Given the description of an element on the screen output the (x, y) to click on. 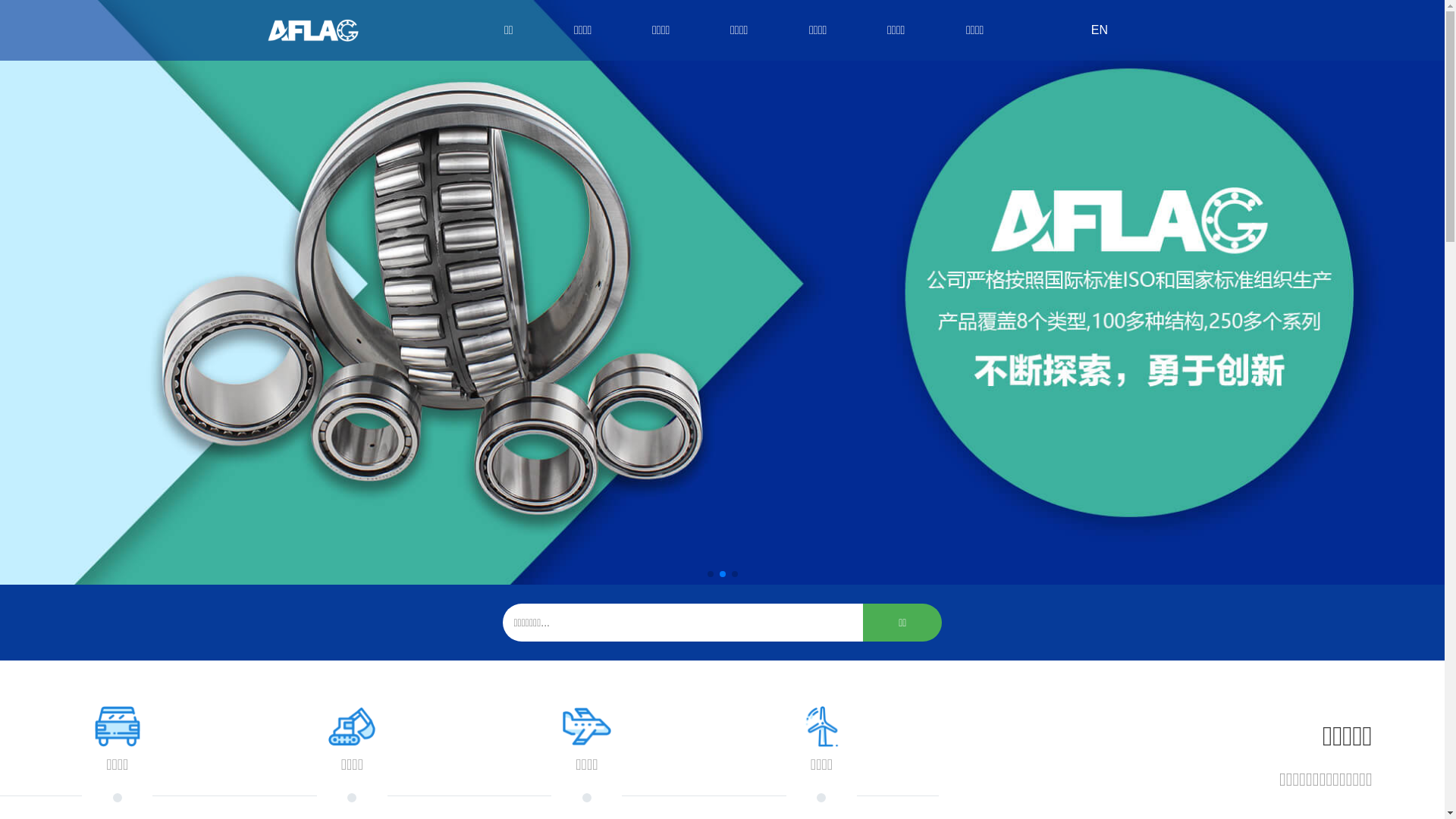
EN Element type: text (1098, 29)
